Given the description of an element on the screen output the (x, y) to click on. 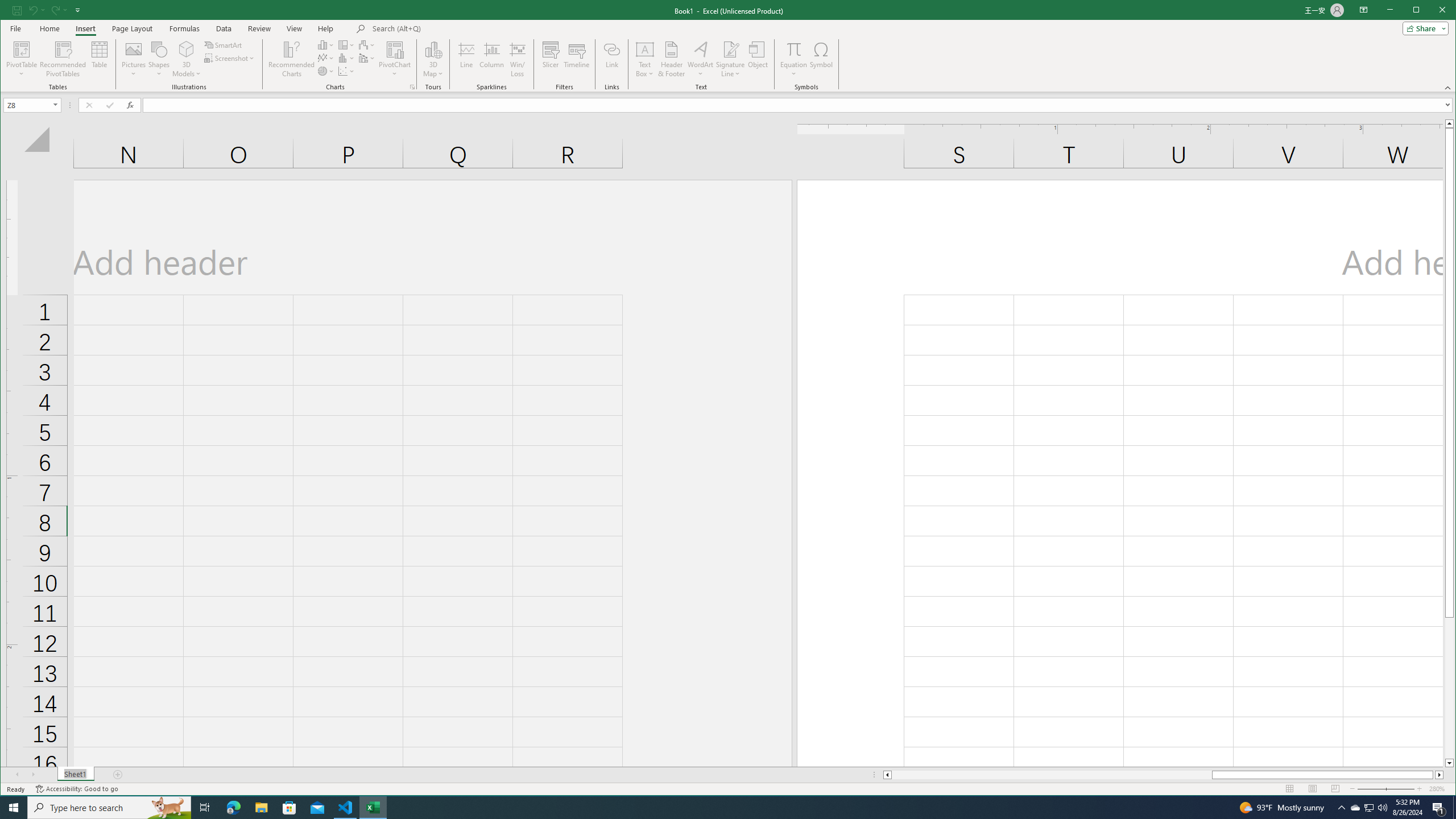
Sheet Tab (75, 774)
Insert Waterfall, Funnel, Stock, Surface, or Radar Chart (366, 44)
Insert Column or Bar Chart (325, 44)
